Given the description of an element on the screen output the (x, y) to click on. 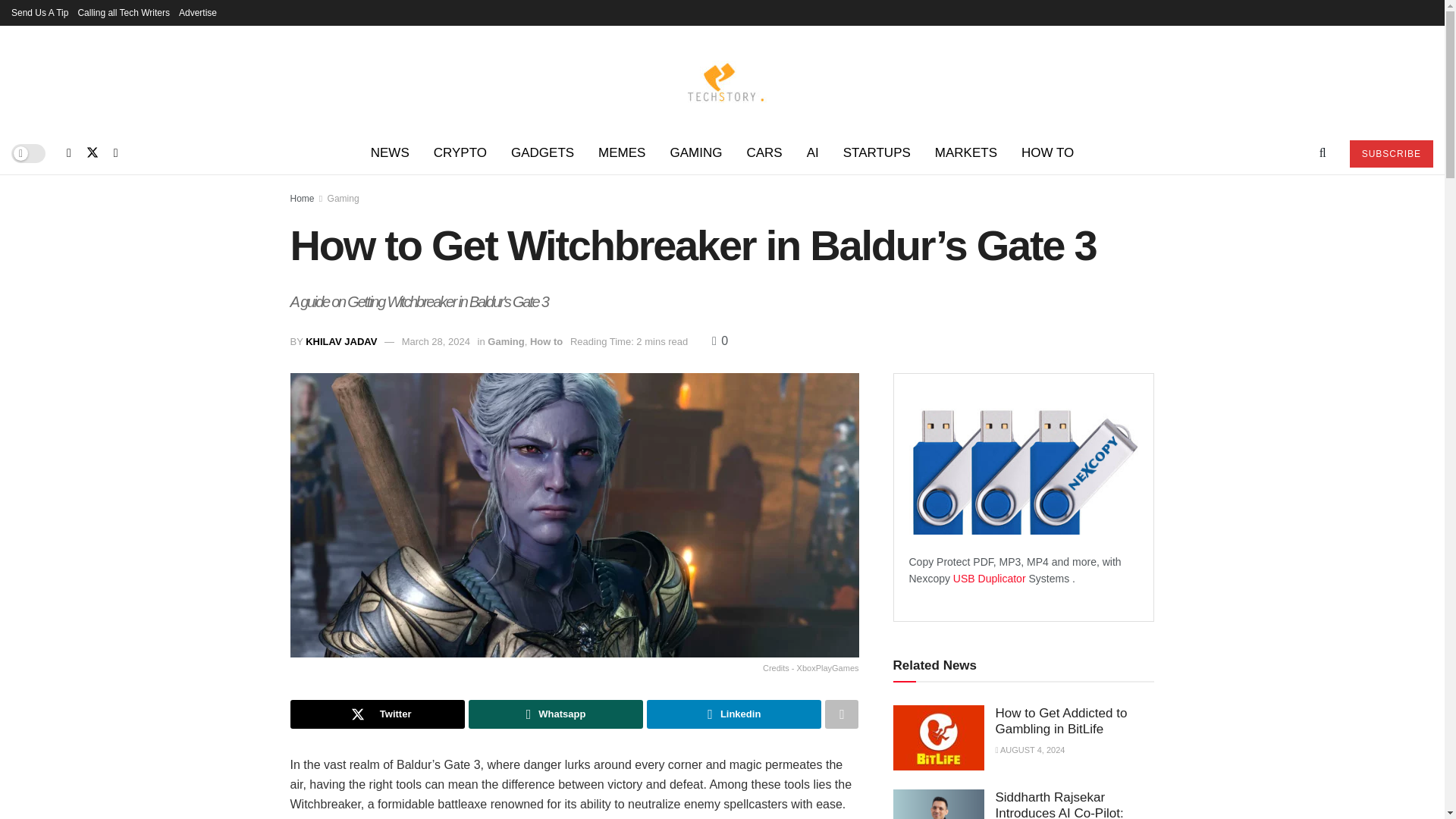
STARTUPS (877, 152)
Home (301, 198)
Send Us A Tip (39, 12)
HOW TO (1047, 152)
GAMING (695, 152)
CARS (763, 152)
KHILAV JADAV (341, 341)
Advertise (197, 12)
CRYPTO (460, 152)
SUBSCRIBE (1390, 153)
